Given the description of an element on the screen output the (x, y) to click on. 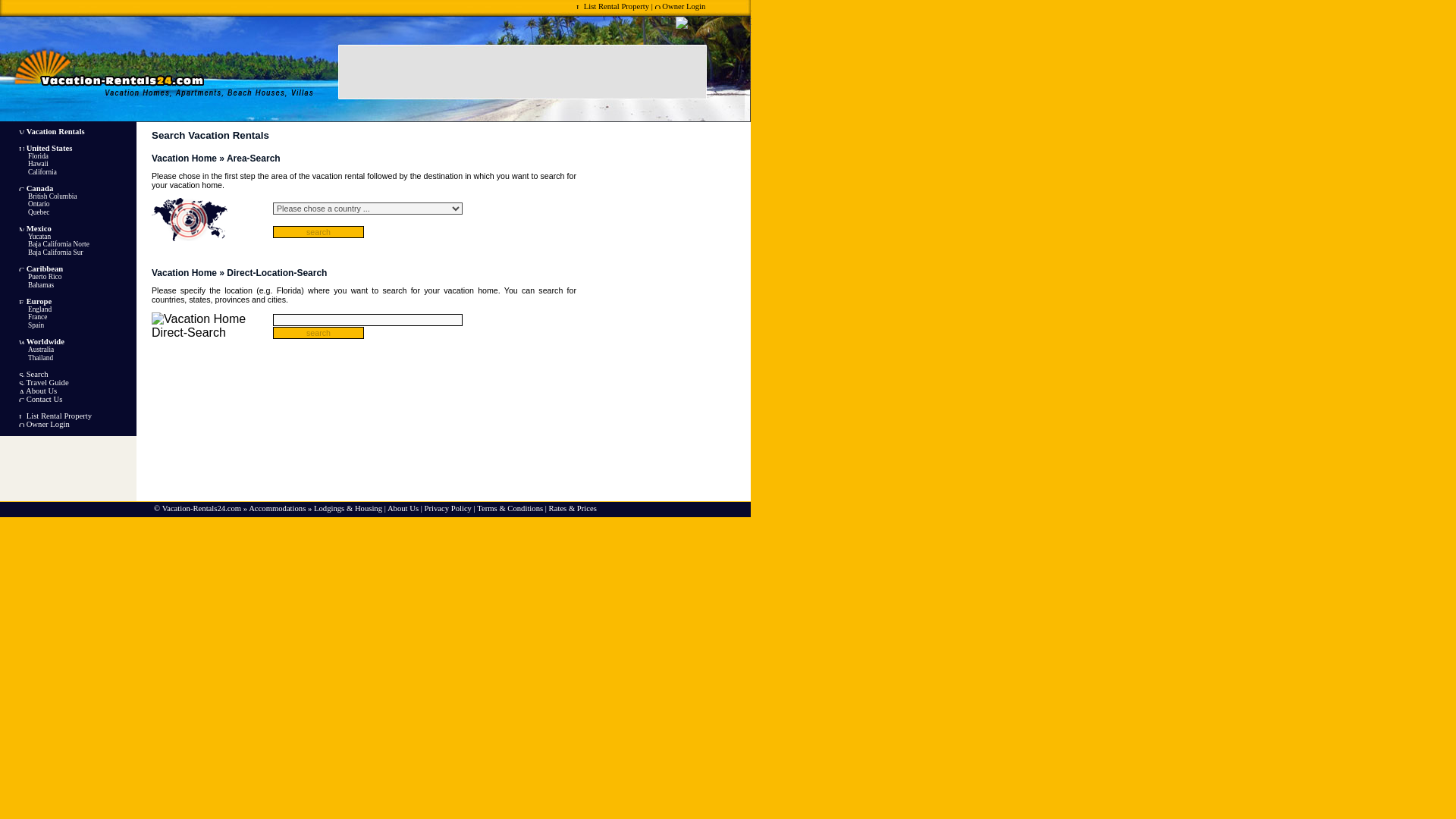
England (25, 308)
Ontario (24, 203)
Florida (24, 155)
List Rental Property (58, 415)
Vacation-Rentals24.com (201, 508)
Puerto Rico (30, 276)
England (25, 308)
Bahamas (26, 285)
Vacation Rentals (55, 131)
search (318, 332)
British Columbia (38, 195)
About Us (403, 508)
British Columbia (38, 195)
Mexico (38, 228)
Travel Guide (47, 382)
